Given the description of an element on the screen output the (x, y) to click on. 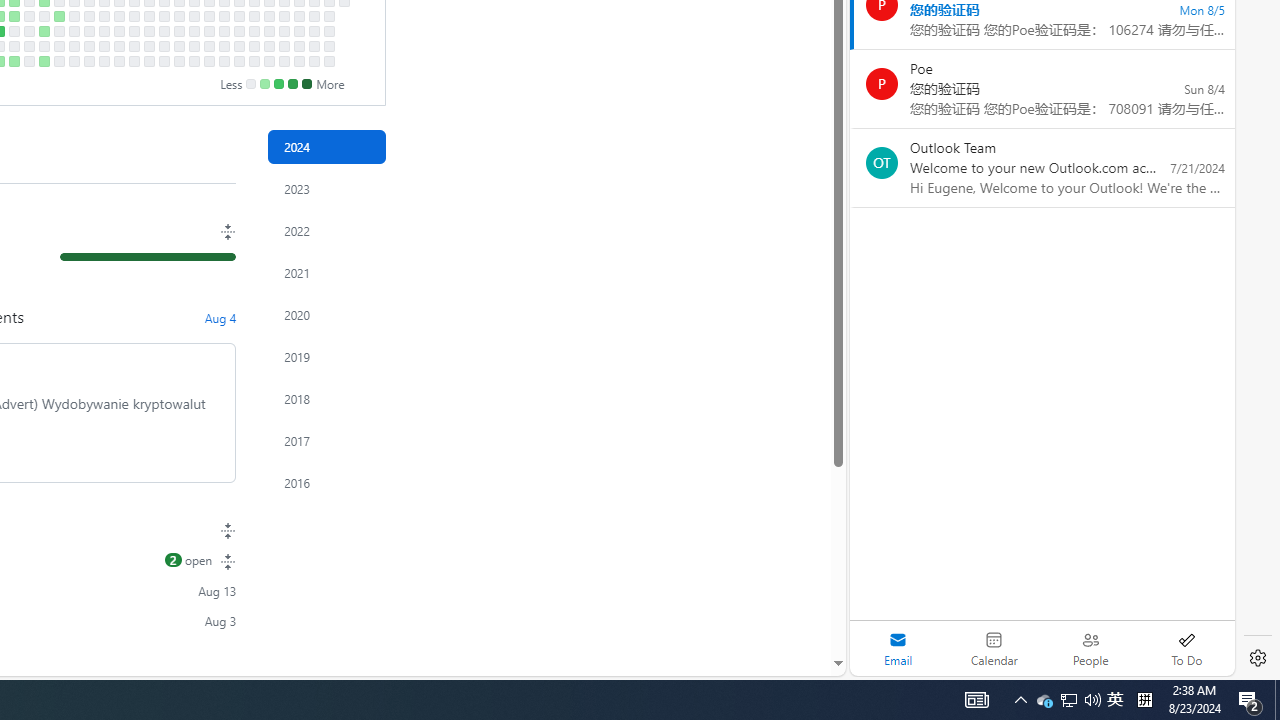
No contributions on November 30th. (268, 61)
Contribution activity in 2024 (326, 147)
No contributions on September 12th. (104, 30)
2018 (326, 399)
Contribution activity in 2021 (326, 273)
No contributions on December 26th. (328, 30)
No contributions on November 23rd. (253, 61)
No contributions on August 23rd. (58, 46)
No contributions on October 4th. (148, 46)
2016 (326, 482)
Selected mail module (898, 648)
No contributions on October 23rd. (193, 16)
Contribution activity in 2016 (326, 482)
No contributions on November 15th. (238, 46)
No contributions on December 25th. (328, 16)
